Given the description of an element on the screen output the (x, y) to click on. 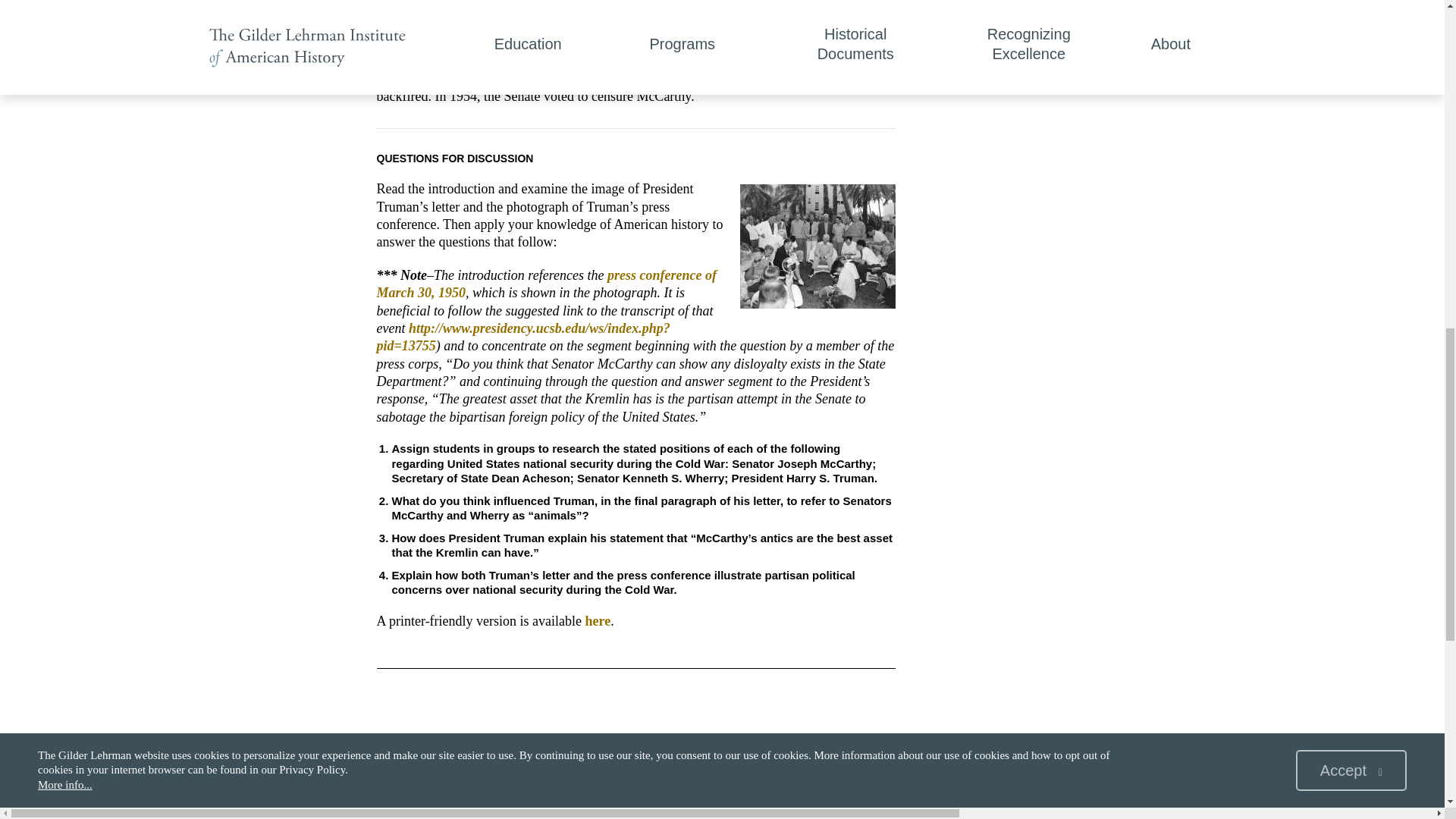
press conference of March 30, 1950 (545, 283)
